Given the description of an element on the screen output the (x, y) to click on. 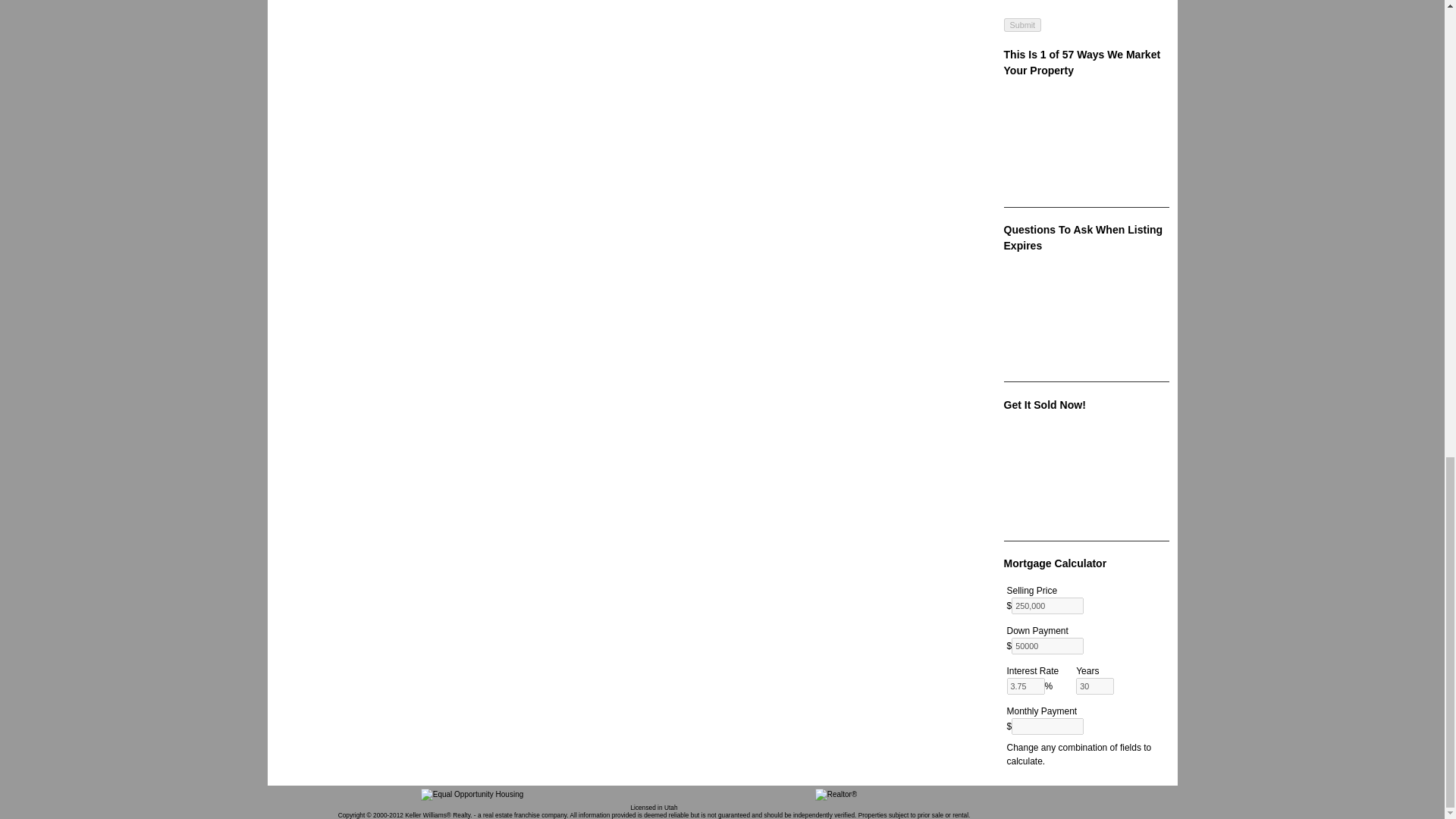
3.75 (1026, 686)
50000 (1047, 646)
30 (1094, 686)
250,000 (1047, 605)
Submit (1023, 24)
